Given the description of an element on the screen output the (x, y) to click on. 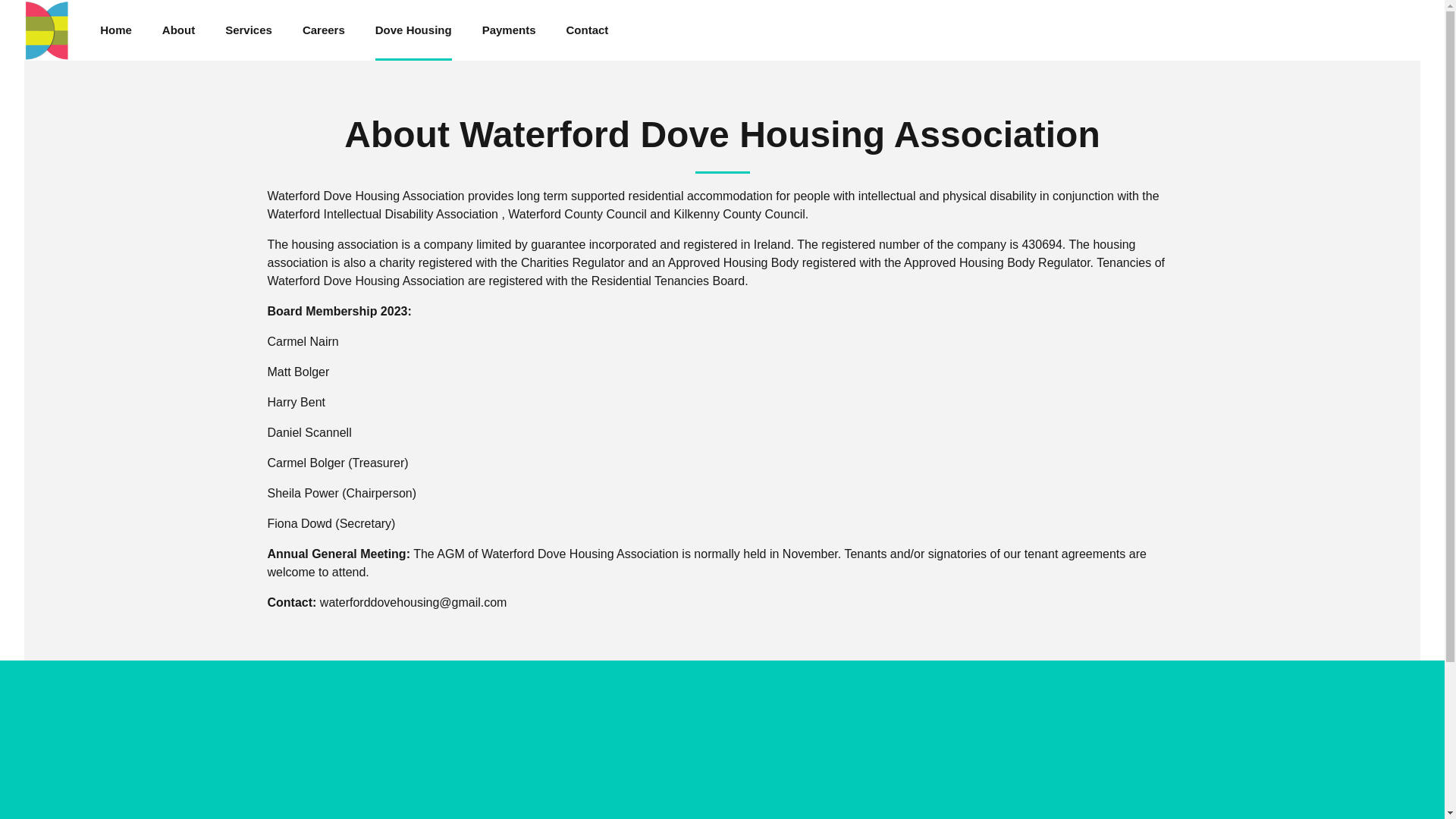
Home (116, 30)
Dove Housing (413, 30)
Payments (508, 30)
Services (248, 30)
Contact (587, 30)
Careers (323, 30)
About (178, 30)
